Given the description of an element on the screen output the (x, y) to click on. 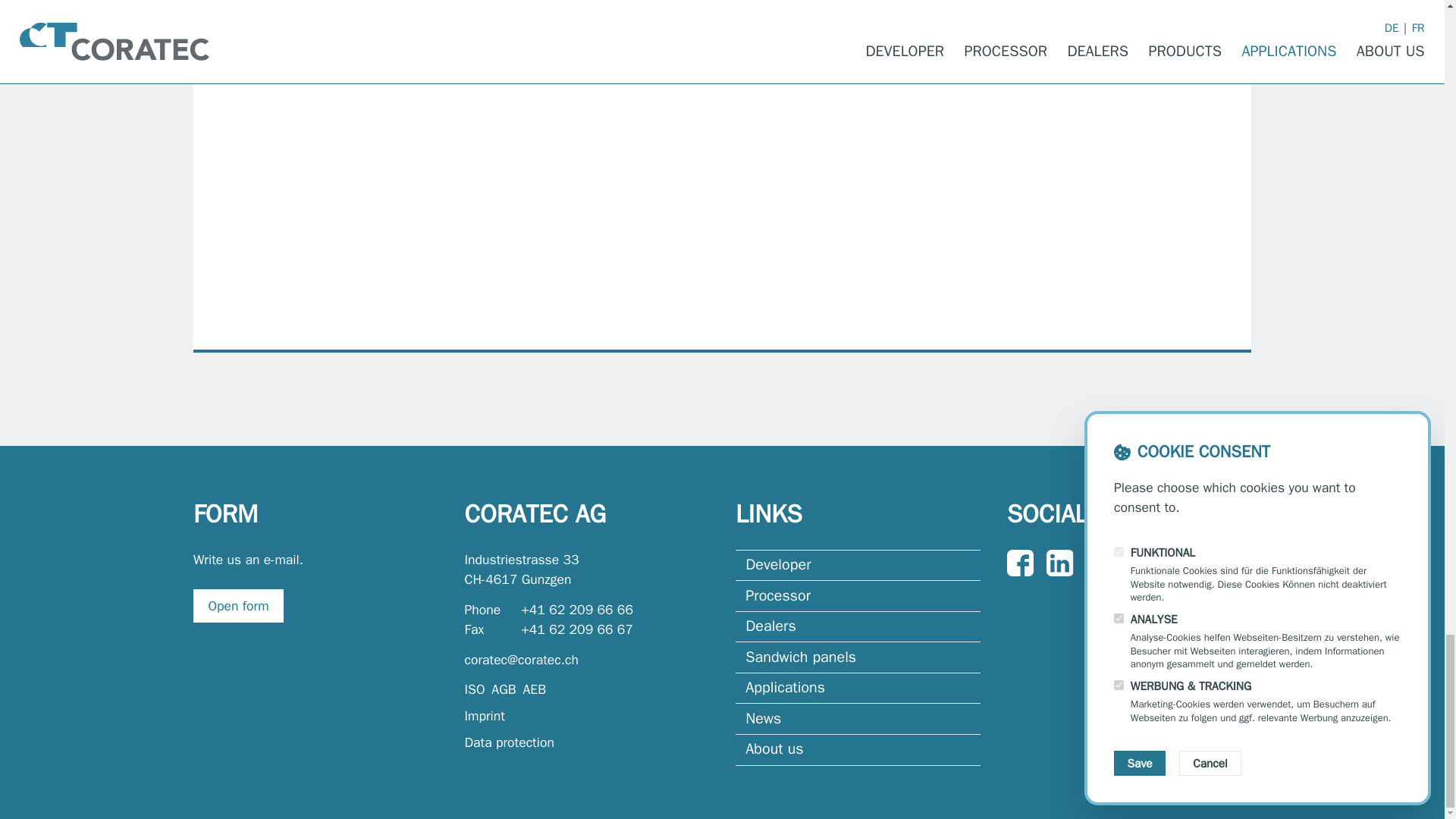
Data protection (585, 742)
Applications (857, 687)
ISO (474, 689)
Open form (238, 605)
Developer (857, 564)
About us (857, 749)
Dealers (521, 569)
AEB (857, 626)
Sandwich panels (534, 689)
News (857, 656)
Processor (857, 717)
AGB (857, 594)
Imprint (503, 689)
